Given the description of an element on the screen output the (x, y) to click on. 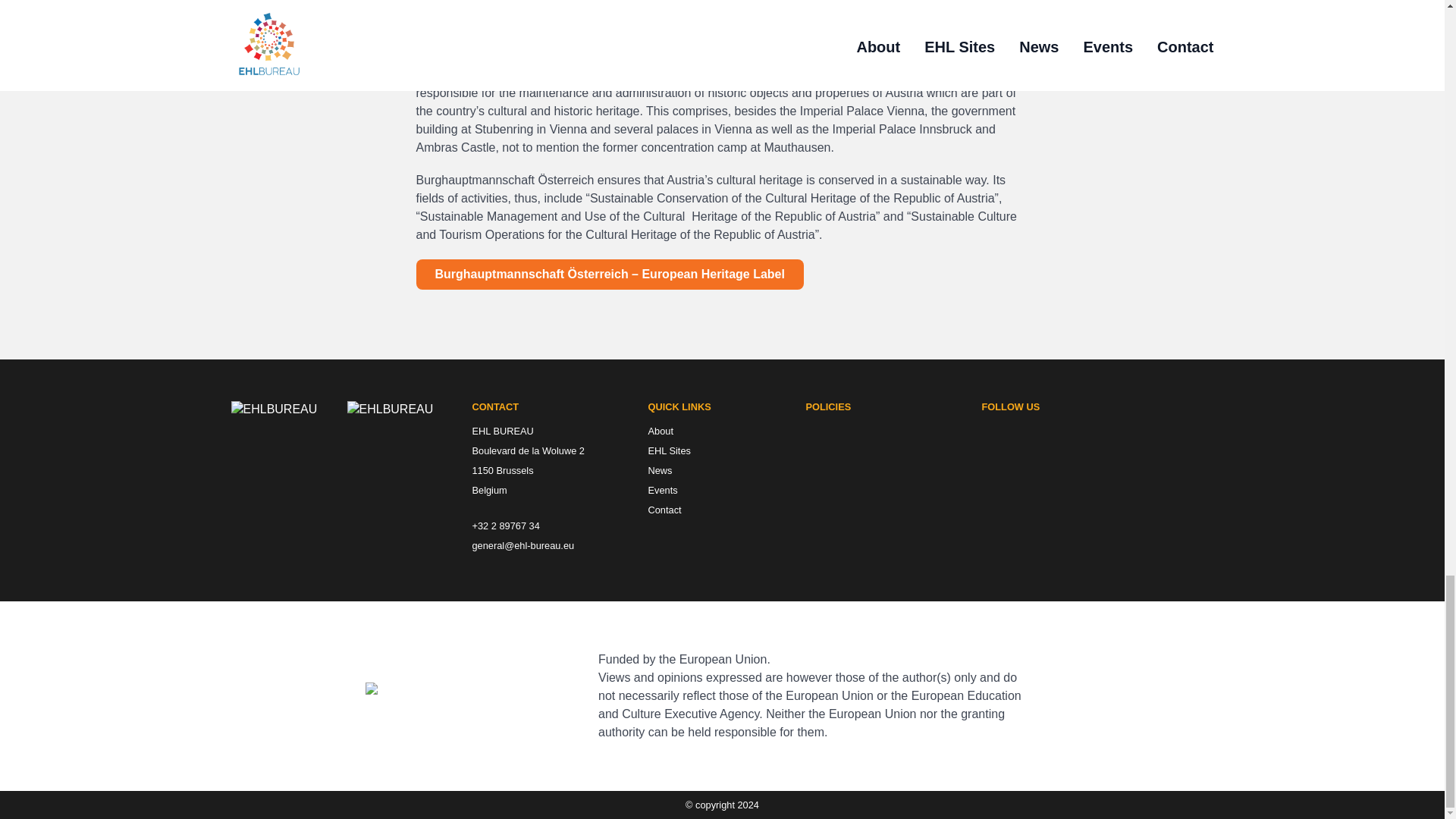
Events (726, 494)
EHL Sites (726, 455)
Contact (726, 514)
News (726, 474)
About (726, 435)
